Given the description of an element on the screen output the (x, y) to click on. 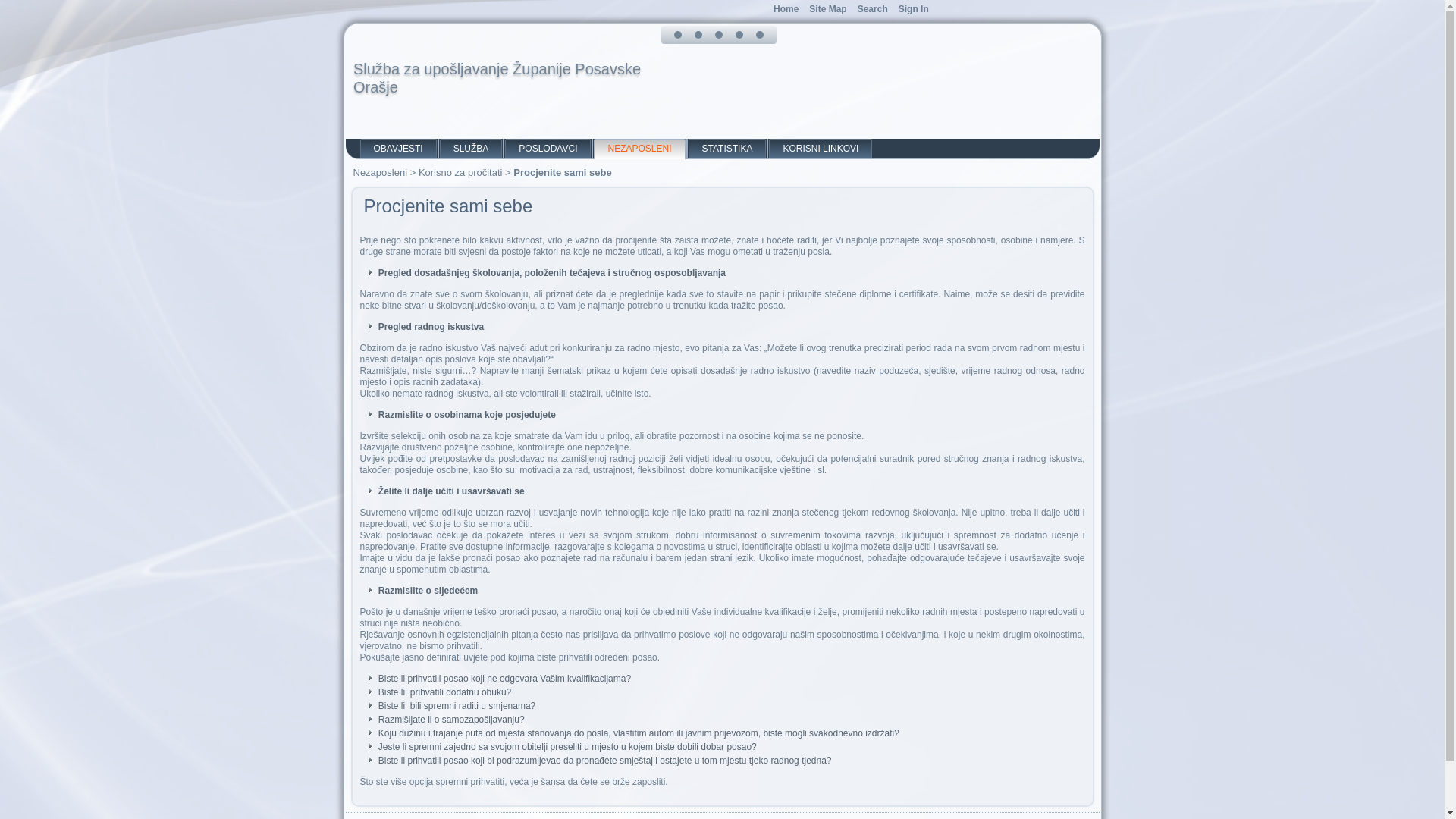
Home Element type: text (785, 8)
Search Element type: text (872, 8)
Site Map Element type: text (827, 8)
Nezaposleni Element type: text (380, 172)
NEZAPOSLENI Element type: text (638, 148)
POSLODAVCI Element type: text (547, 148)
KORISNI LINKOVI Element type: text (820, 148)
OBAVJESTI Element type: text (397, 148)
STATISTIKA Element type: text (727, 148)
Procjenite sami sebe Element type: text (562, 172)
Sign In Element type: text (913, 8)
